Given the description of an element on the screen output the (x, y) to click on. 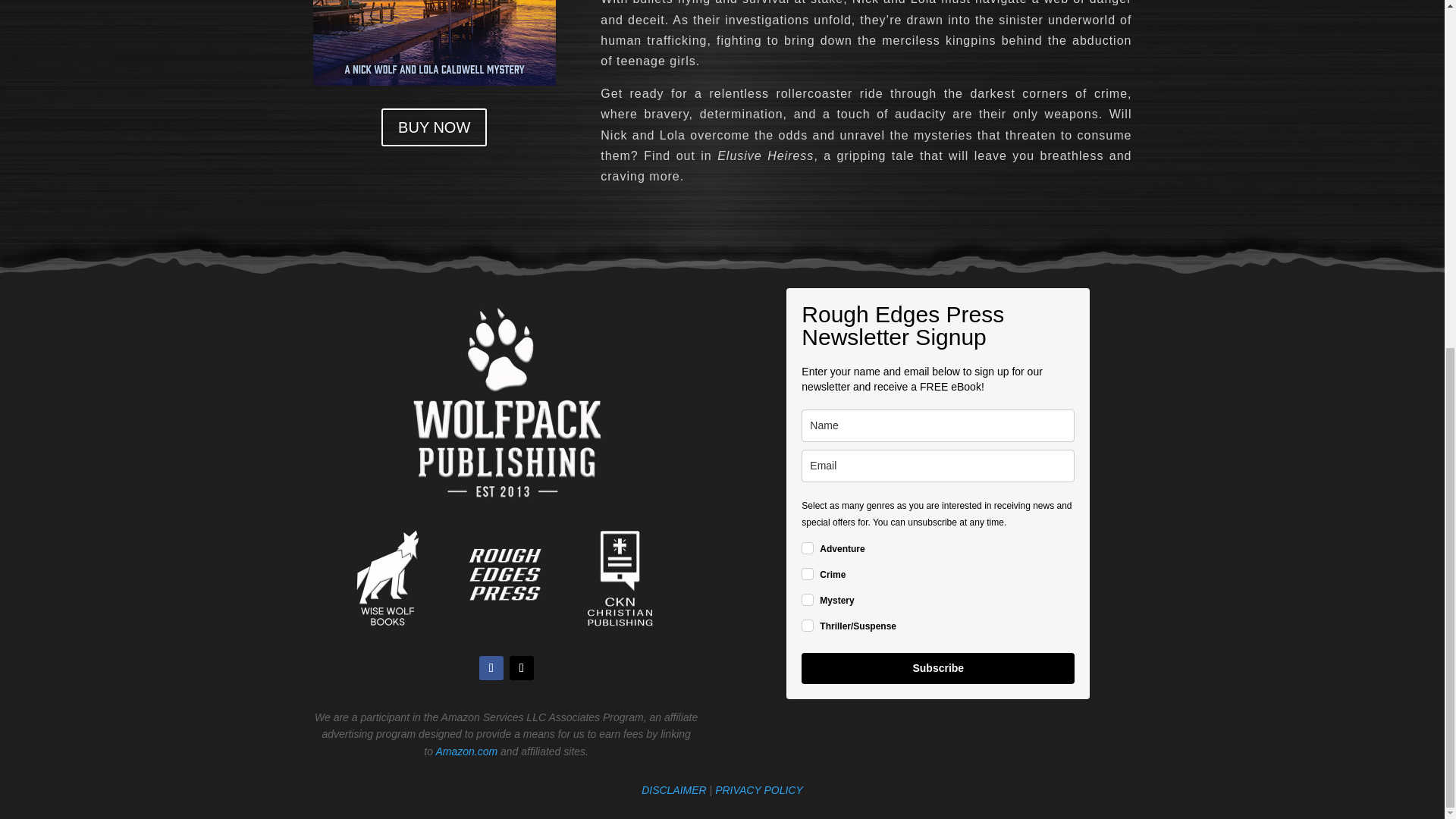
BUY NOW (433, 127)
Follow on Facebook (491, 668)
REP website Wolfpack Logo (506, 406)
Follow on X (521, 668)
Elusive Heiress ML (433, 42)
